Given the description of an element on the screen output the (x, y) to click on. 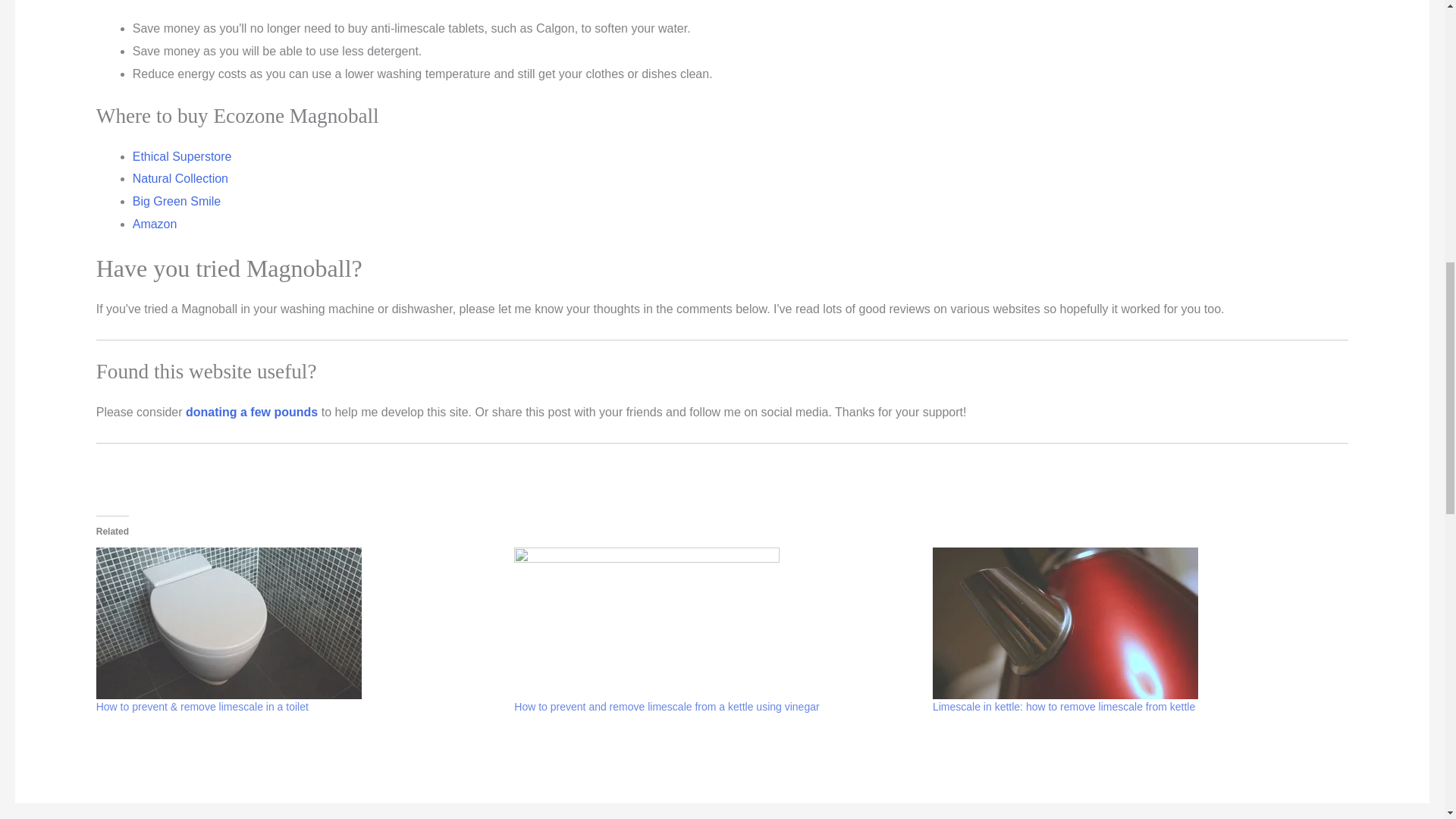
Ethical Superstore (181, 155)
Big Green Smile (176, 201)
Amazon (154, 223)
donating a few pounds (251, 411)
Limescale in kettle: how to remove limescale from kettle (1134, 623)
Limescale in kettle: how to remove limescale from kettle (1064, 706)
Natural Collection (180, 178)
Limescale in kettle: how to remove limescale from kettle (1064, 706)
